Given the description of an element on the screen output the (x, y) to click on. 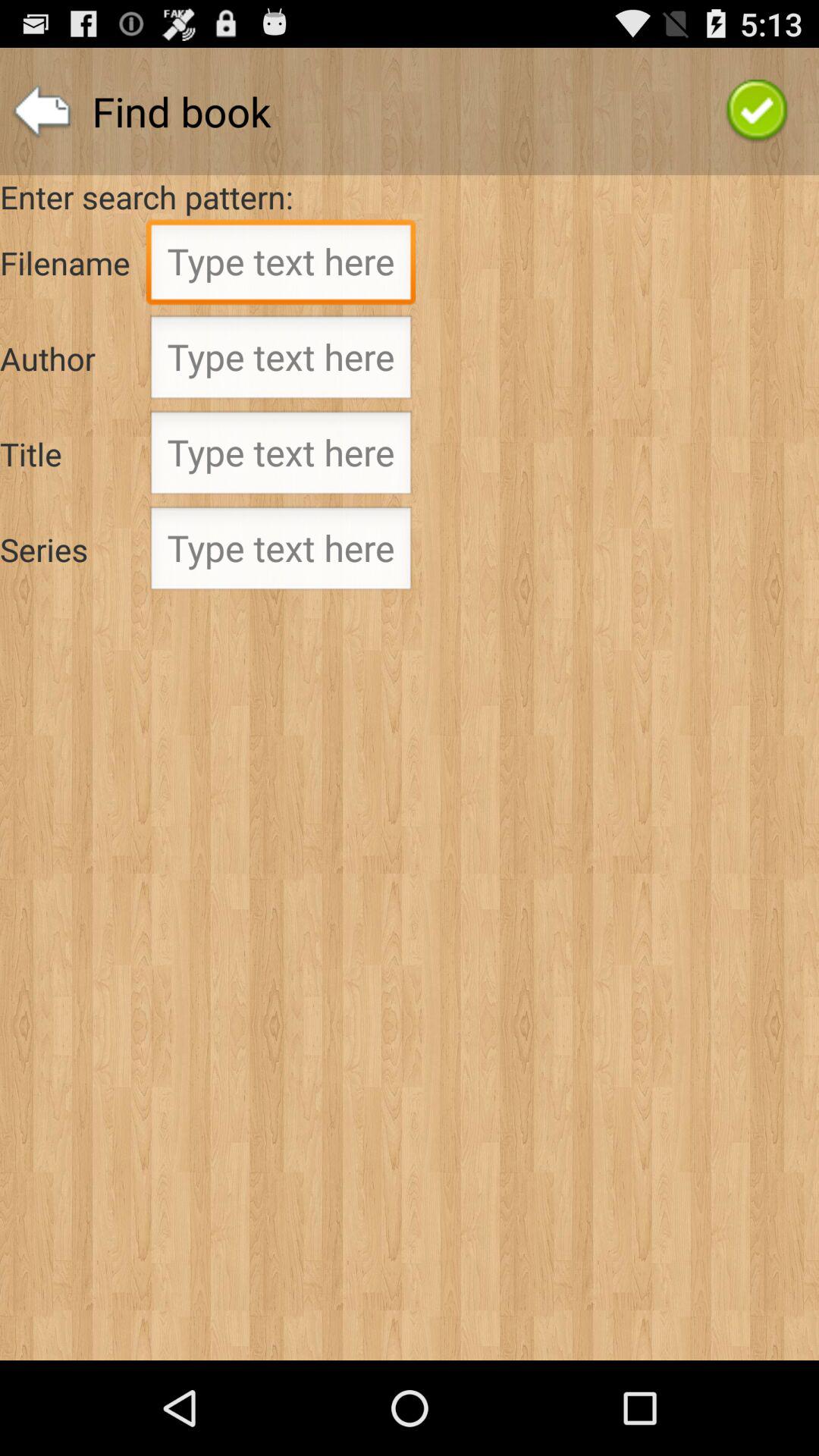
enter filename (280, 265)
